Given the description of an element on the screen output the (x, y) to click on. 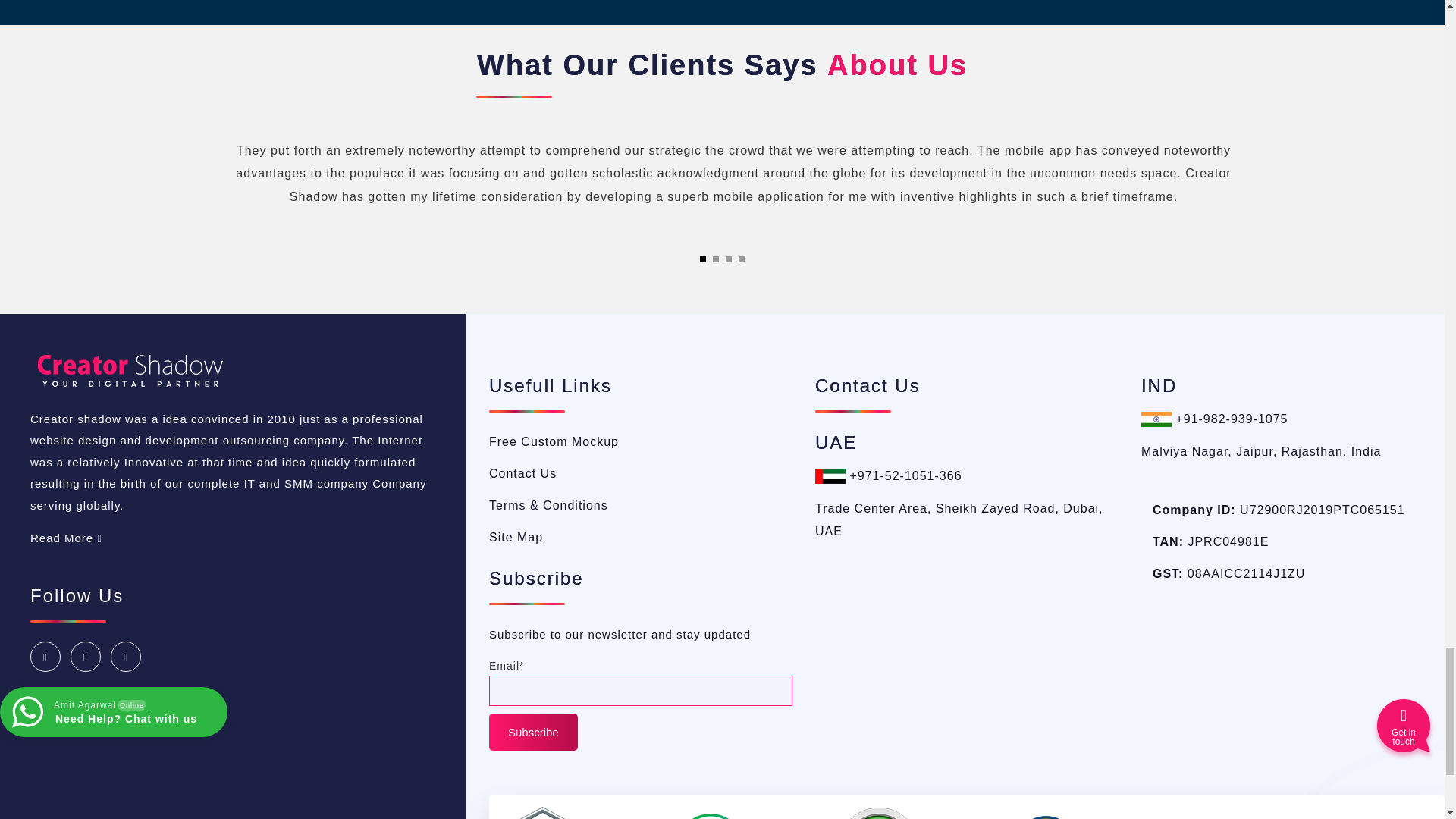
Subscribe (533, 732)
